Given the description of an element on the screen output the (x, y) to click on. 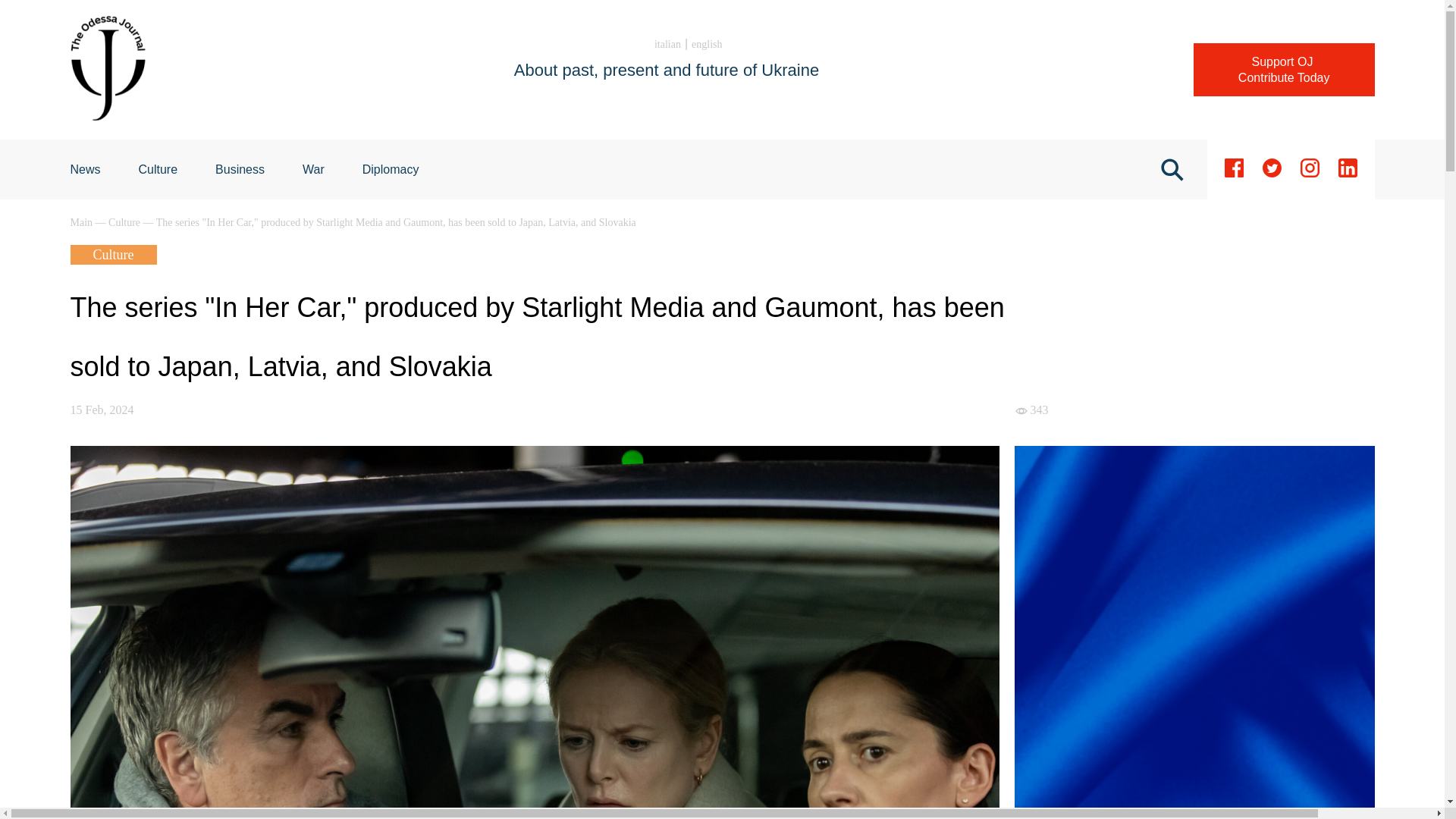
War (313, 169)
Support (1283, 69)
Diplomacy (390, 169)
english (1283, 69)
italian (706, 43)
Culture (667, 43)
Diplomacy (157, 169)
News (390, 169)
Main (84, 169)
Business (81, 222)
News (239, 169)
Culture (84, 169)
Culture (124, 222)
Business (157, 169)
